Given the description of an element on the screen output the (x, y) to click on. 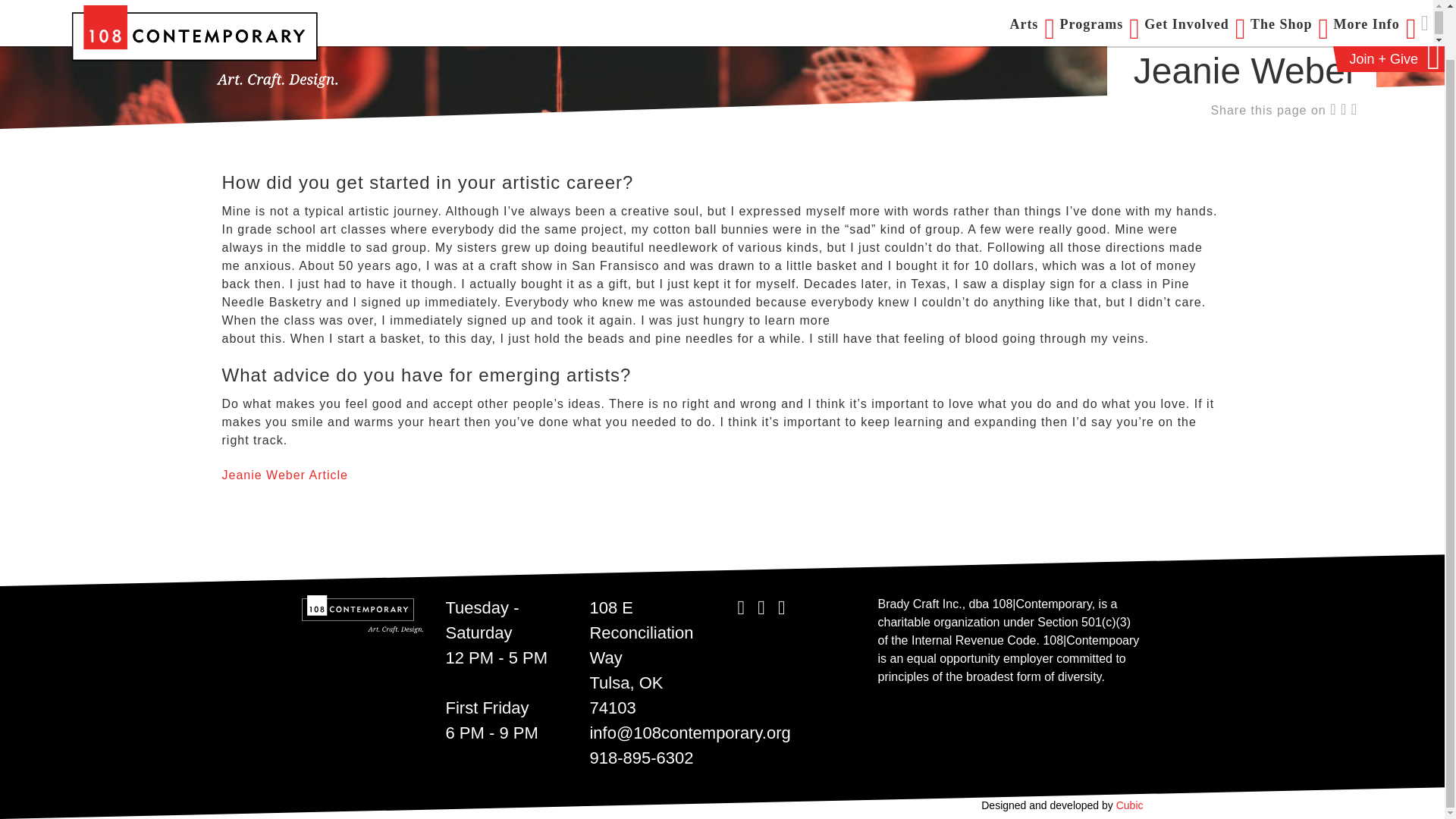
918-895-6302 (641, 757)
Jeanie Weber Article (284, 474)
Cubic (1129, 805)
